Given the description of an element on the screen output the (x, y) to click on. 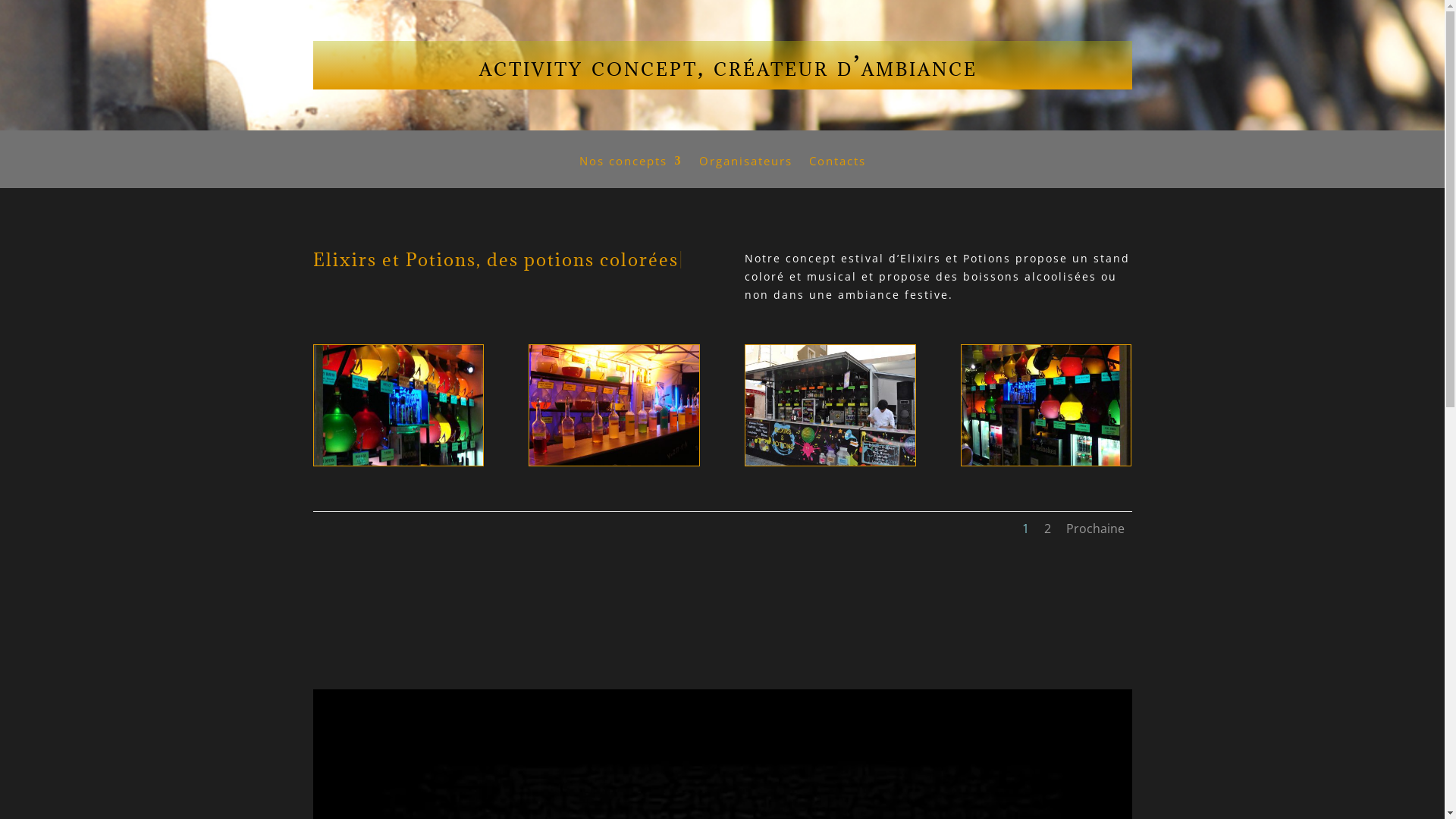
1 Element type: text (1025, 528)
2 Element type: text (1046, 528)
Prochaine Element type: text (1095, 528)
Contacts Element type: text (836, 171)
Organisateurs Element type: text (745, 171)
Nos concepts Element type: text (630, 171)
